Given the description of an element on the screen output the (x, y) to click on. 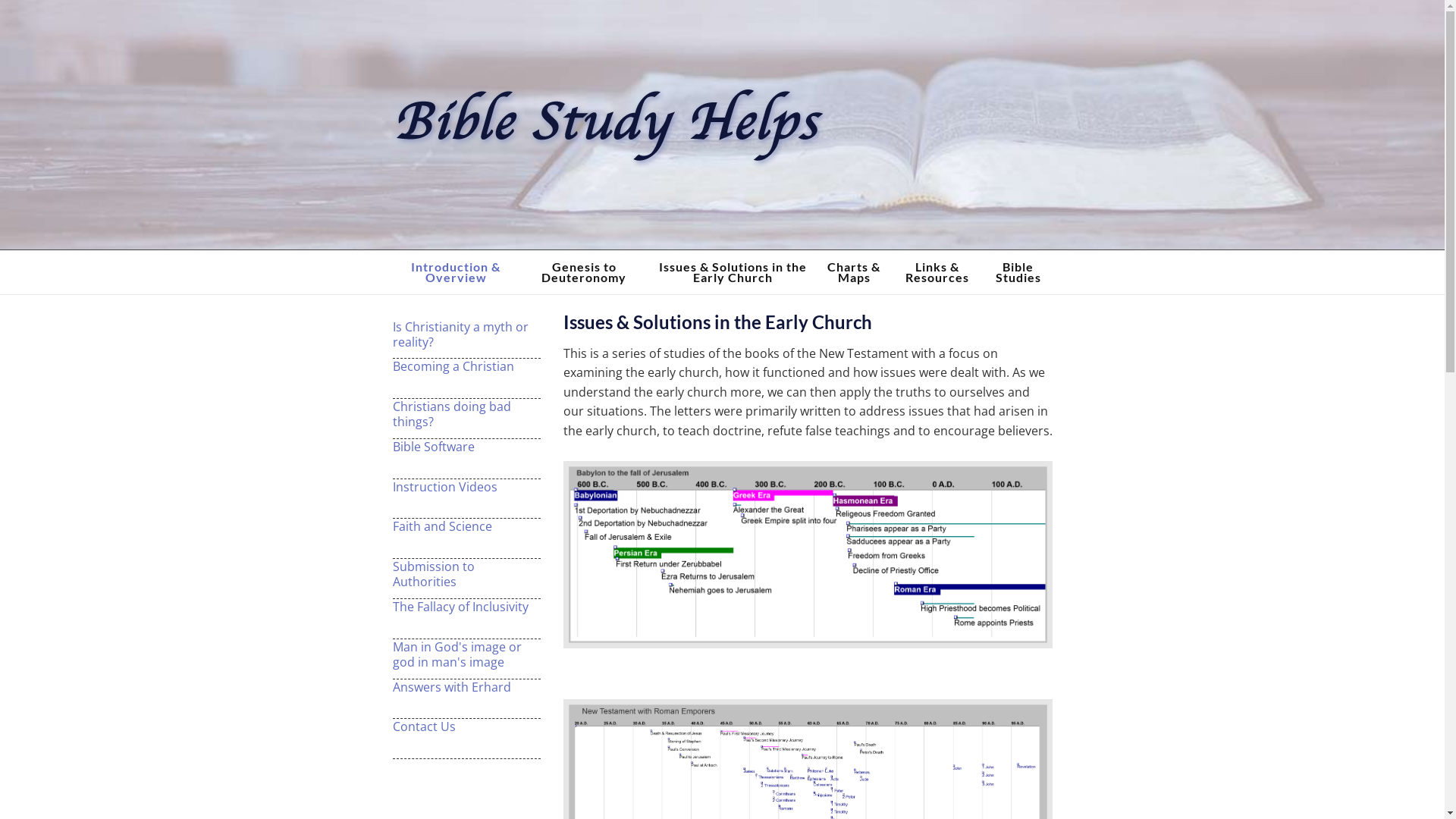
Answers with Erhard Element type: text (466, 686)
Links & Resources Element type: text (937, 272)
Is Christianity a myth or reality? Element type: text (466, 333)
The Fallacy of Inclusivity Element type: text (466, 606)
Introduction & Overview Element type: text (456, 272)
Becoming a Christian Element type: text (466, 365)
Contact Us Element type: text (466, 726)
Bible Studies Element type: text (1017, 272)
Bible Software Element type: text (466, 446)
Charts & Maps Element type: text (854, 272)
Faith and Science Element type: text (466, 525)
Submission to Authorities Element type: text (466, 573)
Genesis to Deuteronomy Element type: text (583, 272)
Christians doing bad things? Element type: text (466, 413)
Instruction Videos Element type: text (466, 486)
Man in God's image or god in man's image Element type: text (466, 654)
Issues & Solutions in the Early Church Element type: text (733, 272)
